Given the description of an element on the screen output the (x, y) to click on. 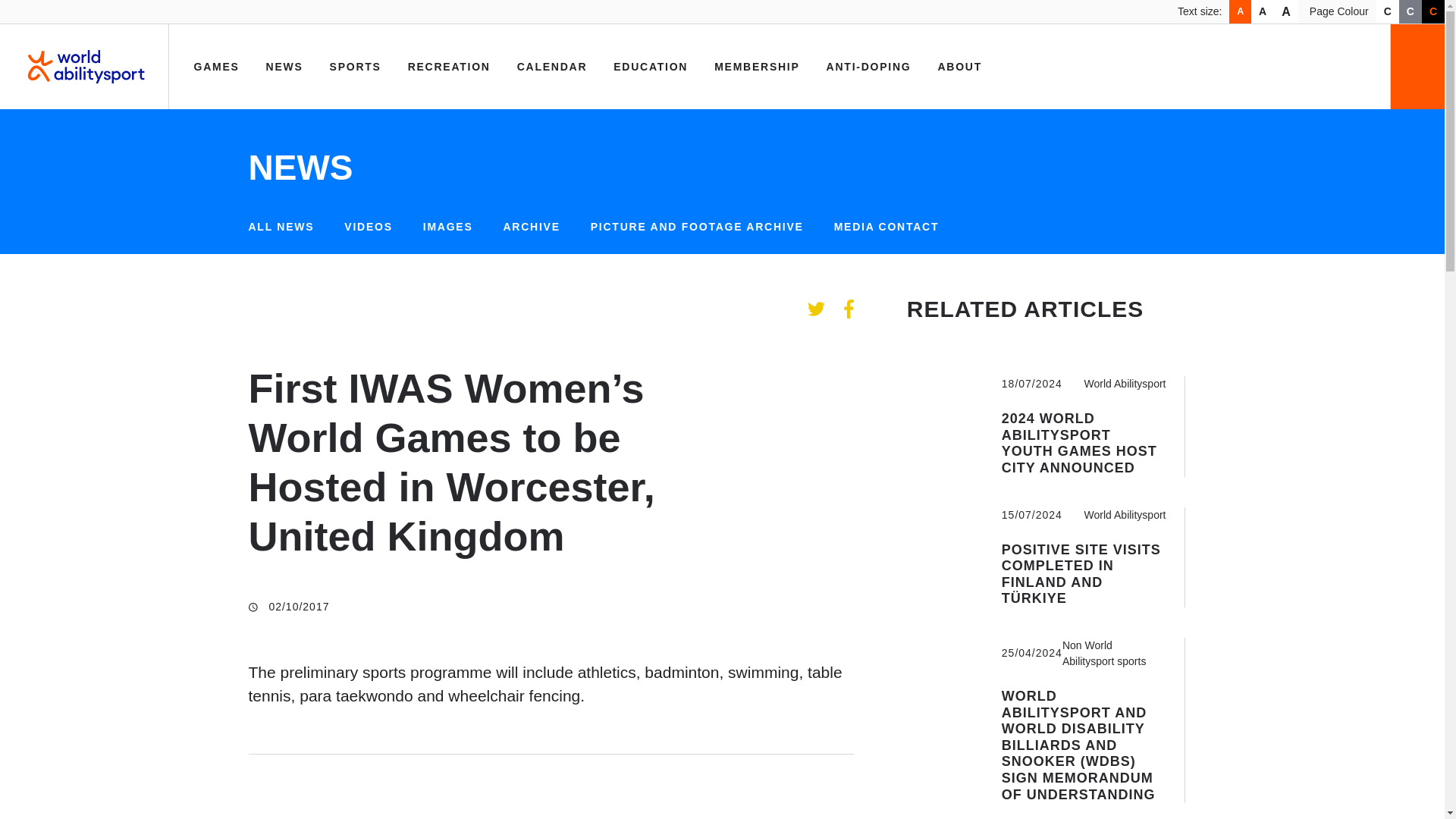
RECREATION (448, 66)
Text size normal (1239, 11)
C (1410, 11)
Text size large (1286, 11)
A (1262, 11)
A (1286, 11)
Page background color gray (1410, 11)
ANTI-DOPING (869, 66)
A (1239, 11)
Page background color white (1387, 11)
